Given the description of an element on the screen output the (x, y) to click on. 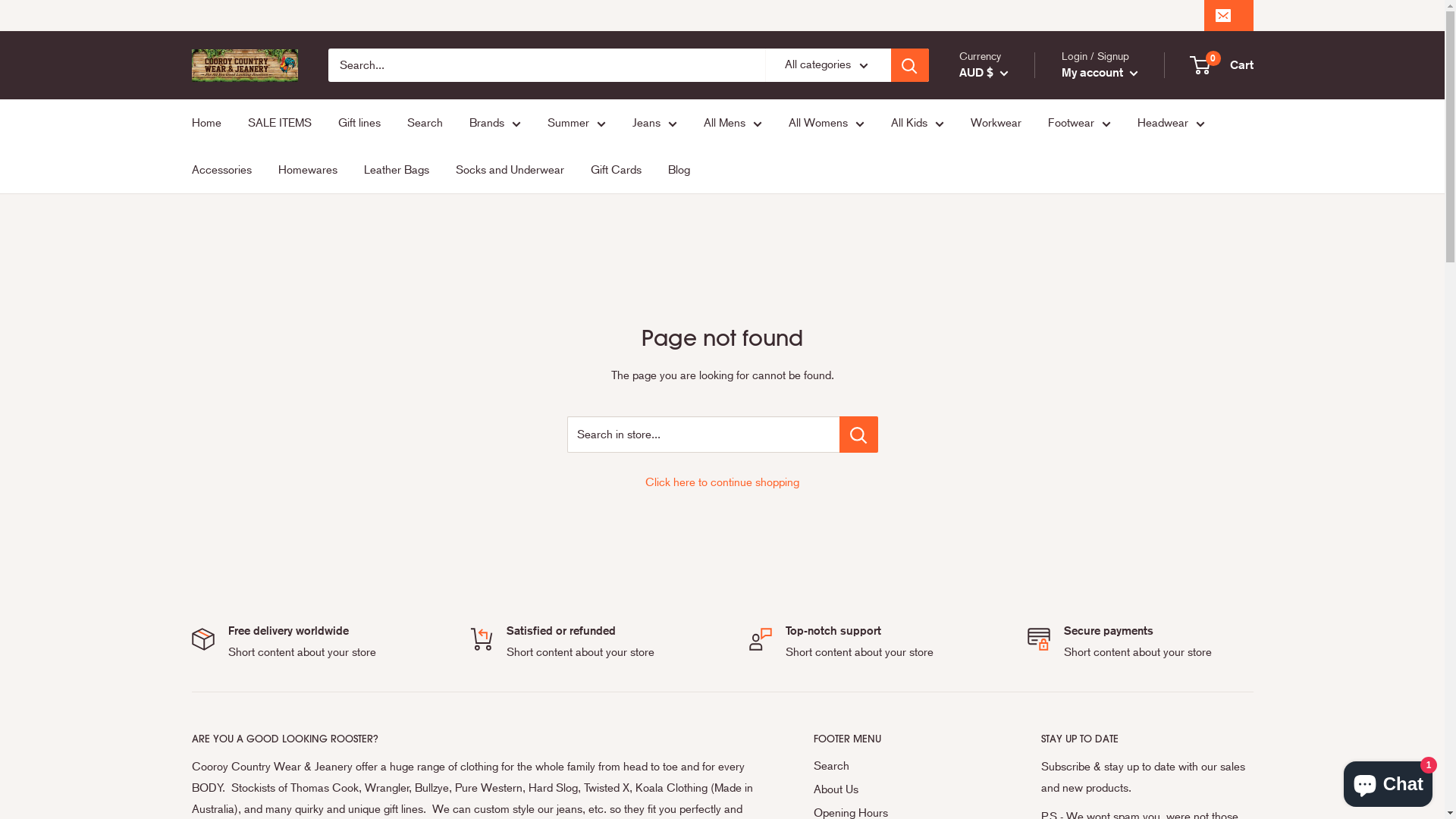
BWP Element type: text (1006, 591)
BDT Element type: text (1006, 460)
AMD Element type: text (1006, 306)
SAR Element type: text (229, 484)
MDL Element type: text (229, 48)
AUD $ Element type: text (982, 72)
PKR Element type: text (229, 352)
USD Element type: text (229, 770)
SALE ITEMS Element type: text (278, 122)
ALL Element type: text (1006, 285)
Homewares Element type: text (306, 169)
NIO Element type: text (229, 238)
AZN Element type: text (1006, 394)
LKR Element type: text (229, 10)
Brands Element type: text (494, 122)
MWK Element type: text (229, 180)
AFN Element type: text (1006, 263)
MYR Element type: text (229, 199)
NGN Element type: text (229, 219)
Gift Cards Element type: text (614, 169)
Workwear Element type: text (995, 122)
AWG Element type: text (1006, 372)
RWF Element type: text (229, 465)
PGK Element type: text (229, 314)
BIF Element type: text (1006, 503)
CRC Element type: text (1006, 722)
PHP Element type: text (229, 333)
QAR Element type: text (229, 409)
Cooroy Country Wear & Jeanery Element type: text (244, 65)
SHP Element type: text (229, 560)
All Kids Element type: text (916, 122)
BAM Element type: text (1006, 416)
SEK Element type: text (229, 522)
ARE YOU A GOOD LOOKING ROOSTER? Element type: text (475, 738)
BND Element type: text (1006, 525)
CHF Element type: text (1006, 678)
THB Element type: text (229, 617)
NZD Element type: text (229, 276)
SBD Element type: text (229, 503)
PYG Element type: text (229, 390)
Gift lines Element type: text (359, 122)
Shopify online store chat Element type: hover (1388, 780)
Leather Bags Element type: text (396, 169)
Click here to continue shopping Element type: text (722, 482)
Headwear Element type: text (1170, 122)
TZS Element type: text (229, 713)
BZD Element type: text (1006, 613)
BBD Element type: text (1006, 438)
RON Element type: text (229, 428)
NPR Element type: text (229, 257)
STD Element type: text (229, 598)
RSD Element type: text (229, 447)
MVR Element type: text (229, 161)
UYU Element type: text (229, 789)
UGX Element type: text (229, 751)
Footwear Element type: text (1079, 122)
Home Element type: text (205, 122)
TWD Element type: text (229, 694)
UAH Element type: text (229, 732)
DJF Element type: text (1006, 787)
Jeans Element type: text (654, 122)
0
Cart Element type: text (1221, 64)
All Womens Element type: text (826, 122)
BSD Element type: text (1006, 569)
TTD Element type: text (229, 675)
MUR Element type: text (229, 142)
CAD Element type: text (1006, 634)
Search Element type: text (899, 766)
CDF Element type: text (1006, 656)
CZK Element type: text (1006, 766)
MAD Element type: text (229, 29)
About Us Element type: text (899, 789)
BGN Element type: text (1006, 482)
AED Element type: text (1006, 241)
MKD Element type: text (229, 67)
My account Element type: text (1099, 72)
TJS Element type: text (229, 637)
Socks and Underwear Element type: text (509, 169)
Search Element type: text (424, 122)
MNT Element type: text (229, 105)
BOB Element type: text (1006, 547)
SGD Element type: text (229, 541)
ANG Element type: text (1006, 328)
PLN Element type: text (229, 371)
CVE Element type: text (1006, 744)
MOP Element type: text (229, 123)
Blog Element type: text (678, 169)
AUD Element type: text (1006, 350)
CNY Element type: text (1006, 700)
PEN Element type: text (229, 295)
FOOTER MENU Element type: text (899, 738)
All Mens Element type: text (732, 122)
SLL Element type: text (229, 579)
TOP Element type: text (229, 656)
MMK Element type: text (229, 86)
Accessories Element type: text (221, 169)
Summer Element type: text (576, 122)
